Given the description of an element on the screen output the (x, y) to click on. 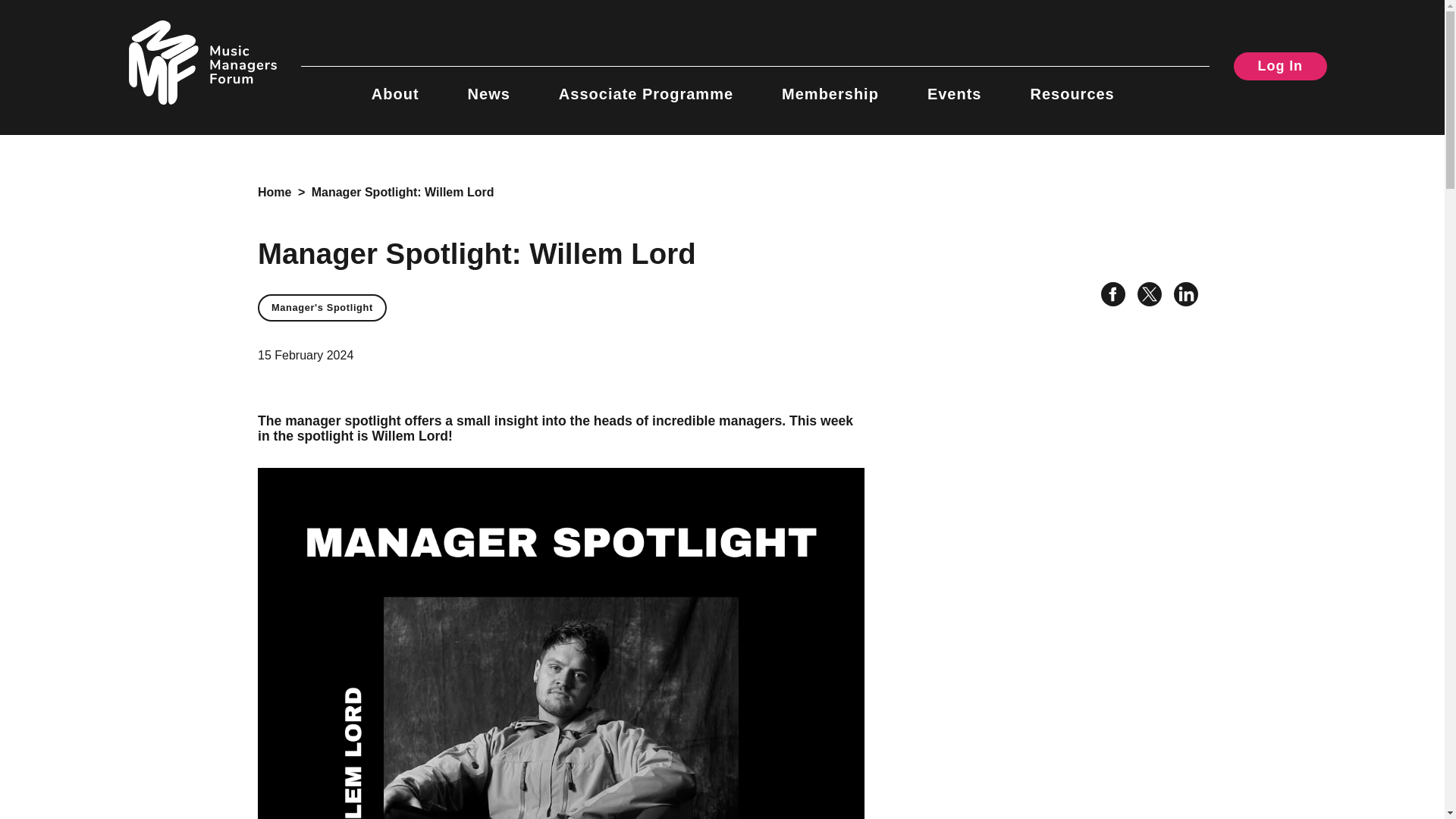
Log In (1279, 66)
Home (274, 192)
Events (954, 85)
Share on twitter (1143, 296)
Membership (830, 85)
News (489, 85)
Resources (1071, 85)
Associate Programme (646, 85)
Manager's Spotlight (322, 307)
About (395, 85)
Share on linked in (1179, 296)
Share on facebook (1107, 296)
Manager Spotlight: Willem Lord (403, 192)
